Given the description of an element on the screen output the (x, y) to click on. 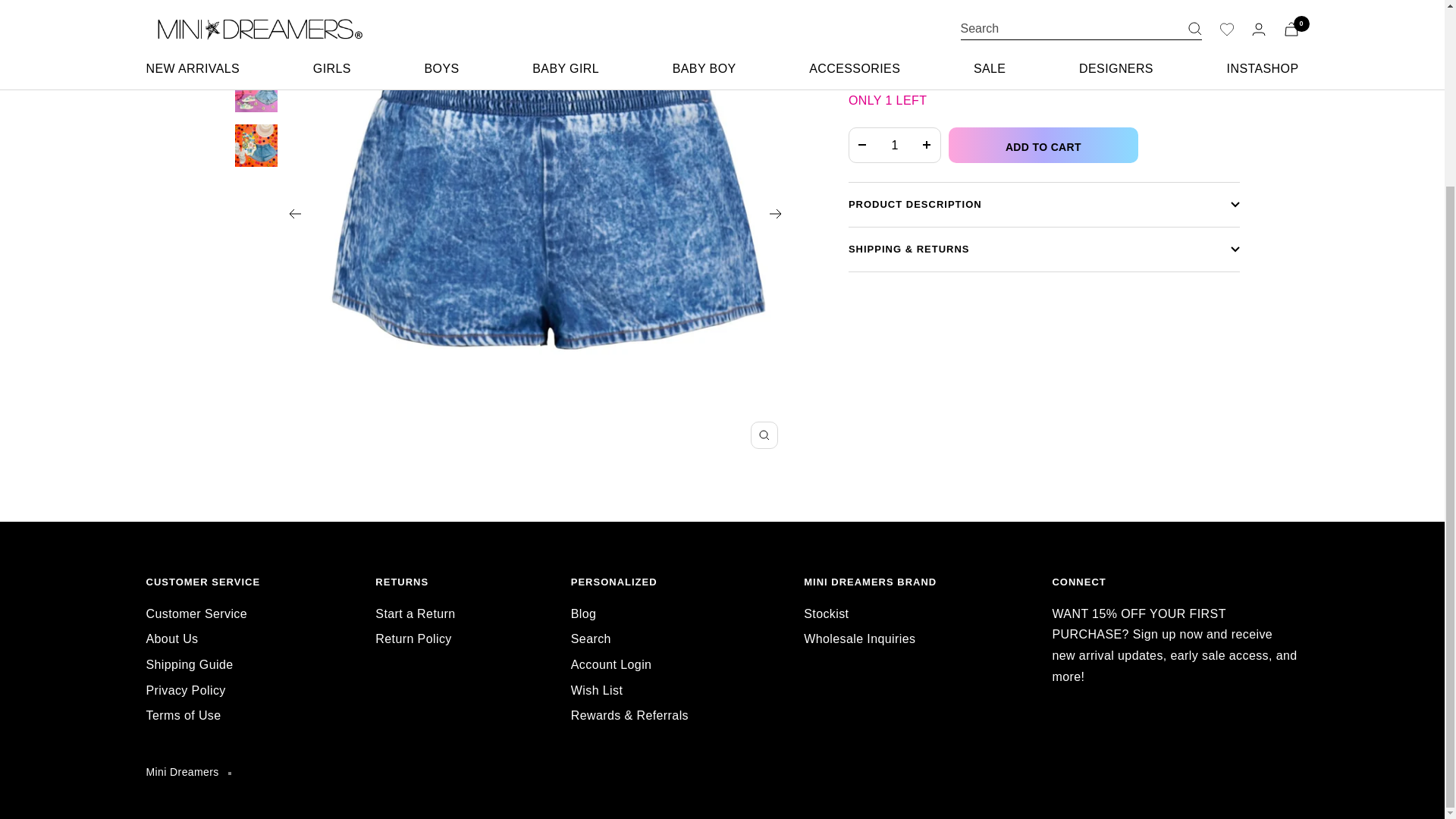
1 (895, 144)
Increase quantity (927, 144)
ADD TO CART (1043, 144)
Decrease quantity (862, 144)
